Given the description of an element on the screen output the (x, y) to click on. 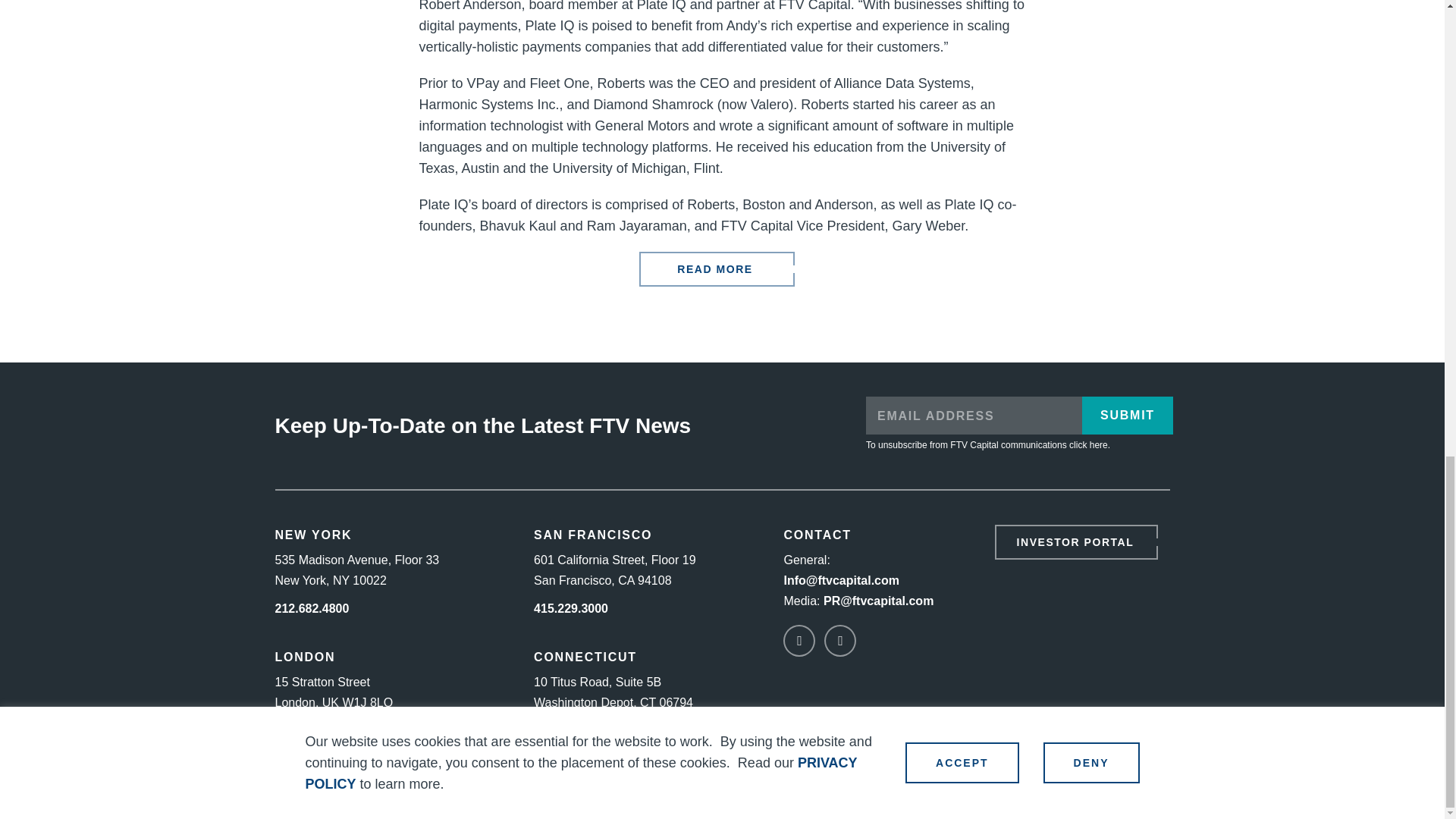
READ MORE (716, 268)
TERMS OF USE (939, 796)
CONTACT (816, 534)
Twitter (840, 640)
SUBMIT (1127, 415)
To unsubscribe from FTV Capital communications click here. (987, 444)
LinkedIn (799, 640)
INVESTOR PORTAL (1075, 541)
